Given the description of an element on the screen output the (x, y) to click on. 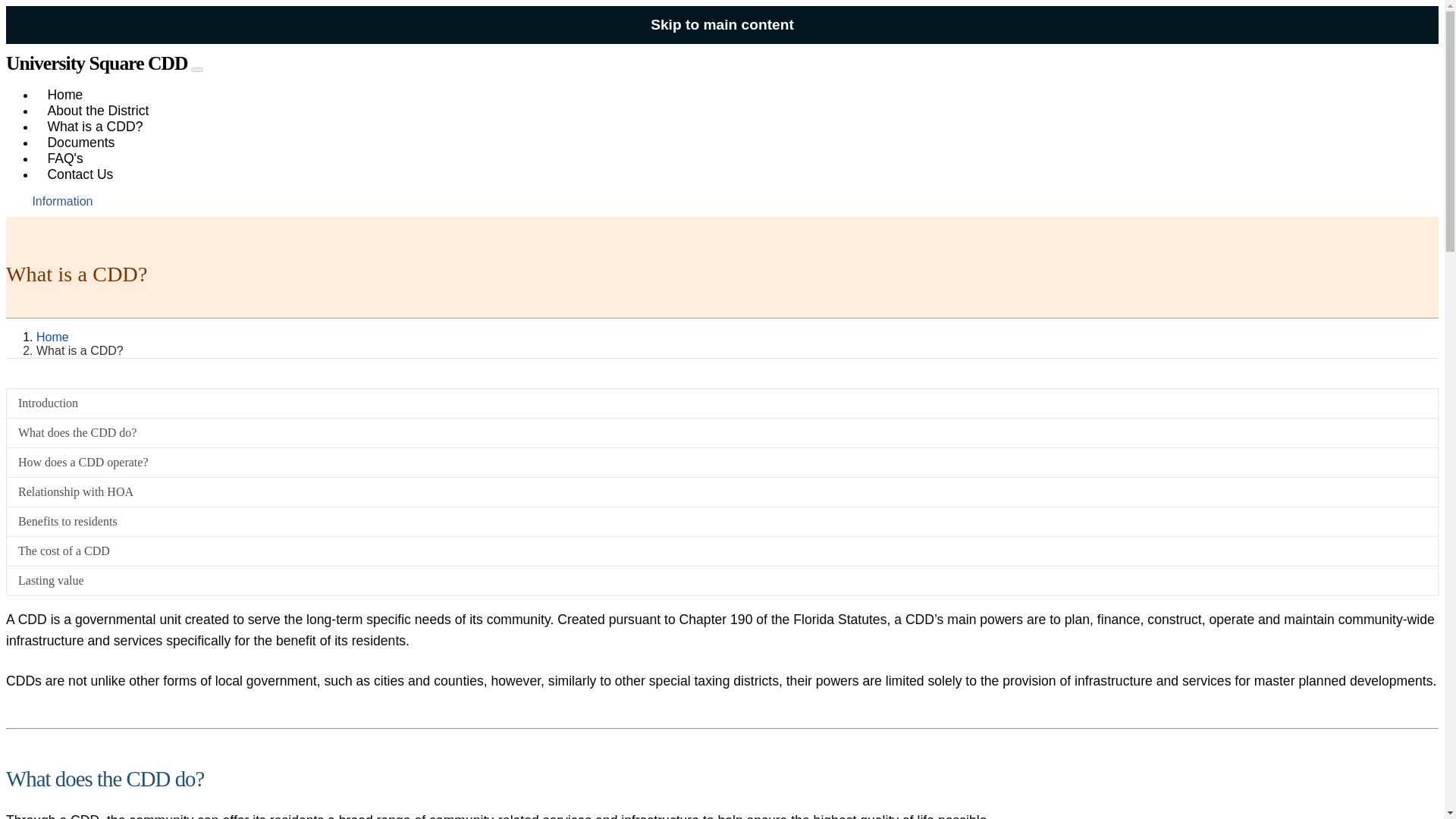
Home (52, 336)
Go back to Home Page (96, 63)
What is a CDD? (95, 126)
Information (61, 201)
Home (65, 94)
Require Reporting of Information (61, 201)
Contact Us (79, 174)
FAQ's (65, 158)
University Square CDD (96, 63)
About the District (98, 110)
